Given the description of an element on the screen output the (x, y) to click on. 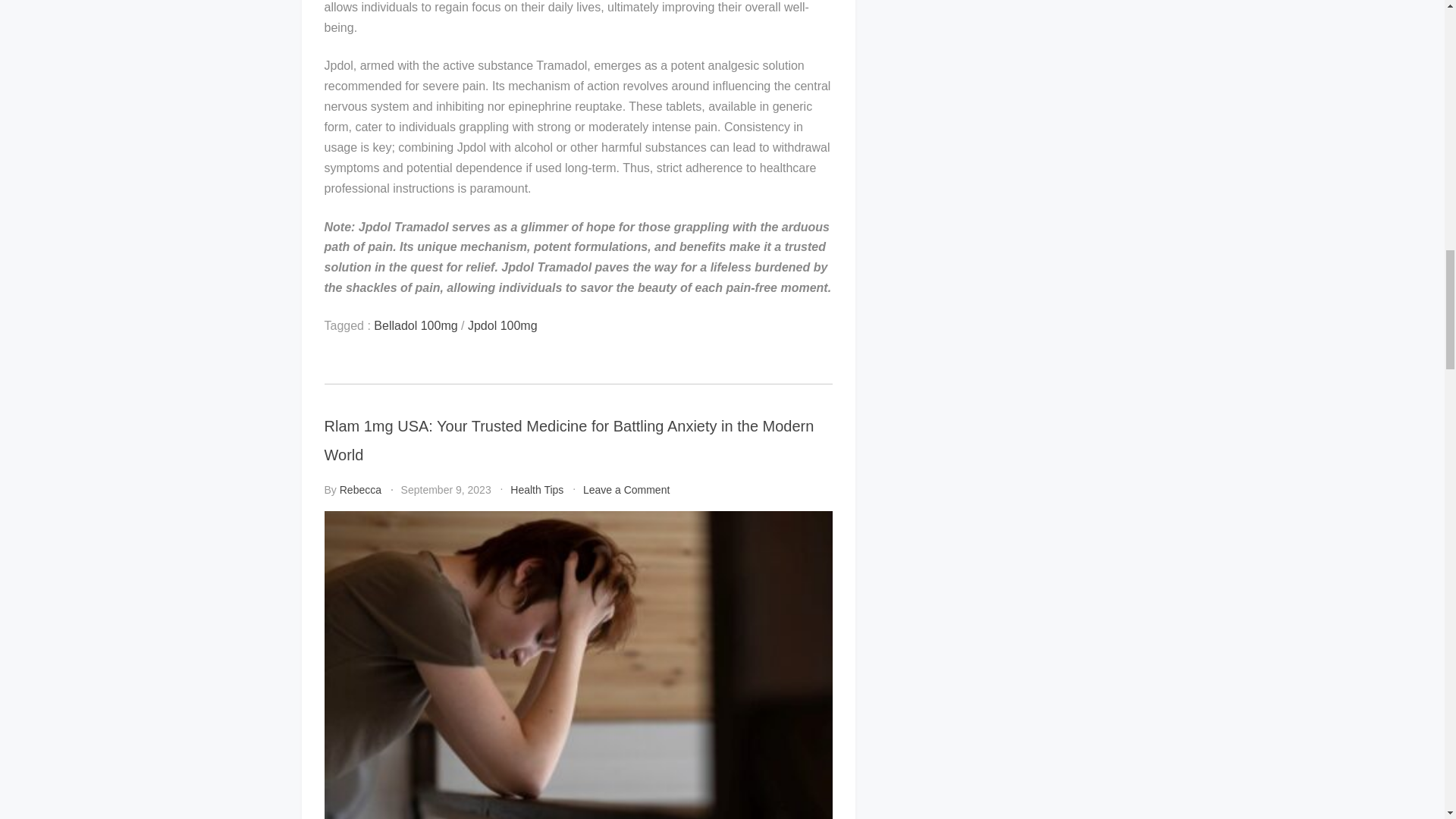
Rebecca (360, 490)
Jpdol 100mg (502, 325)
Belladol 100mg (415, 325)
Health Tips (537, 490)
September 9, 2023 (446, 490)
